Given the description of an element on the screen output the (x, y) to click on. 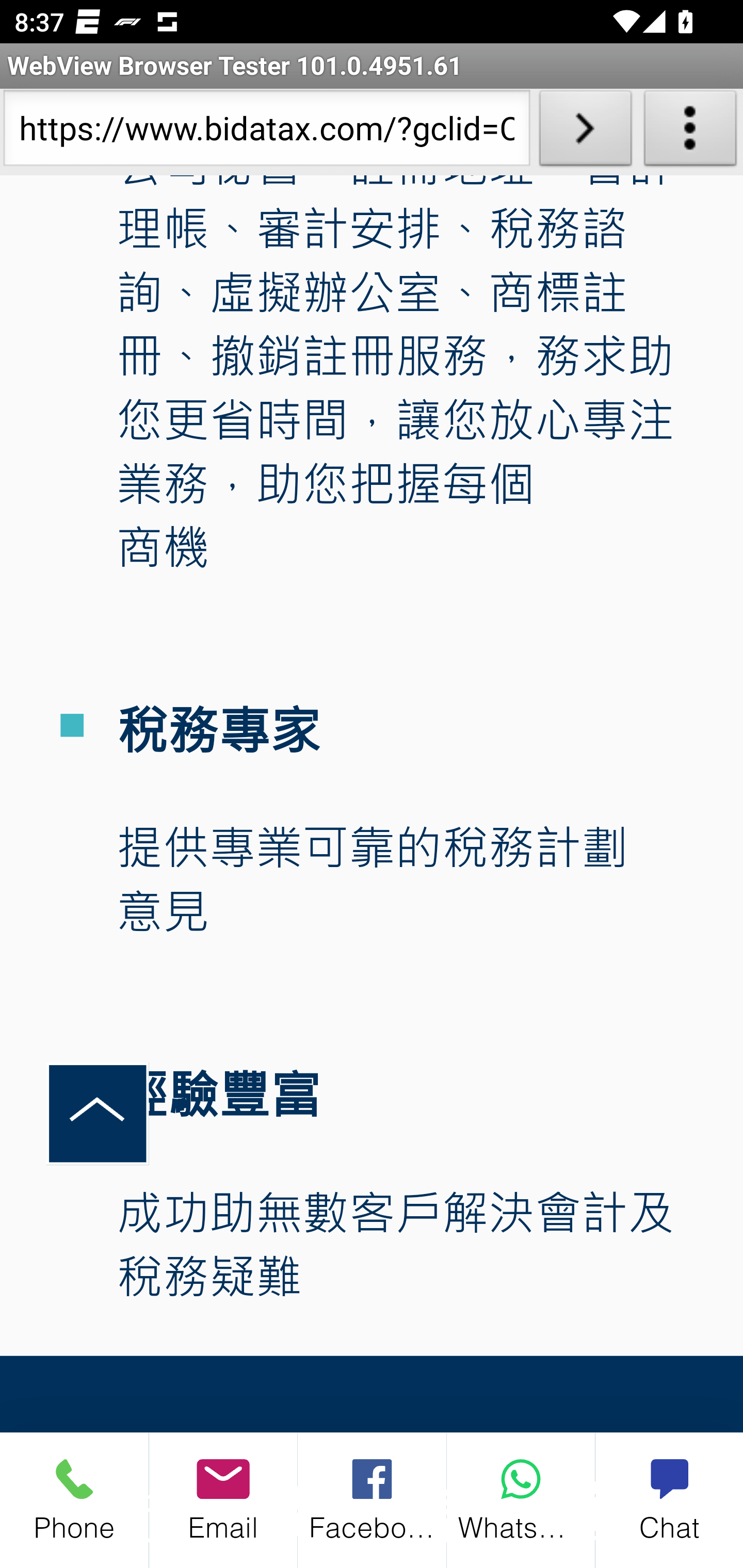
Load URL (585, 132)
About WebView (690, 132)
Phone (74, 1499)
Email (222, 1499)
Facebook (372, 1499)
WhatsApp (520, 1499)
Chat (669, 1499)
